Given the description of an element on the screen output the (x, y) to click on. 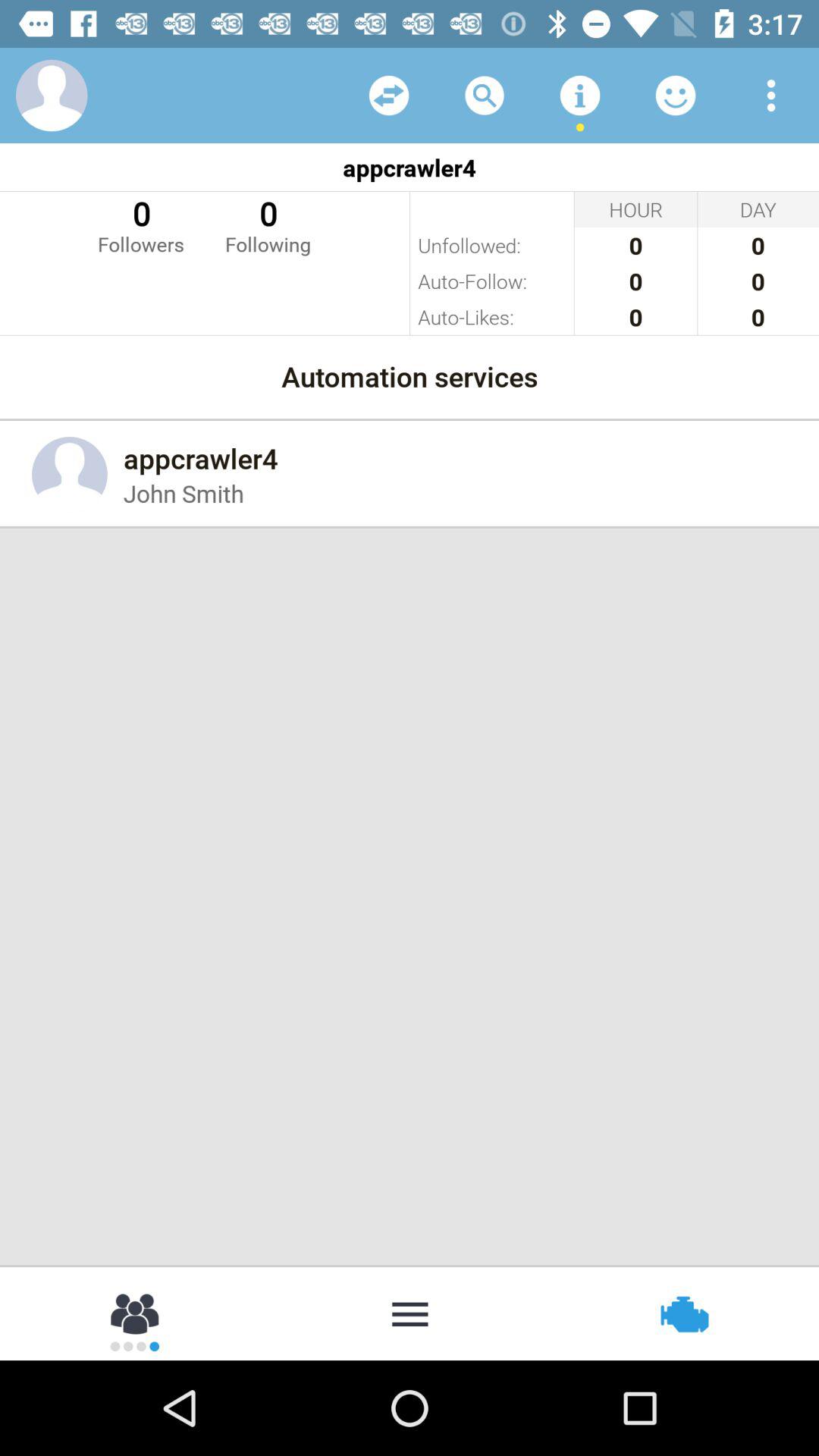
search (484, 95)
